Given the description of an element on the screen output the (x, y) to click on. 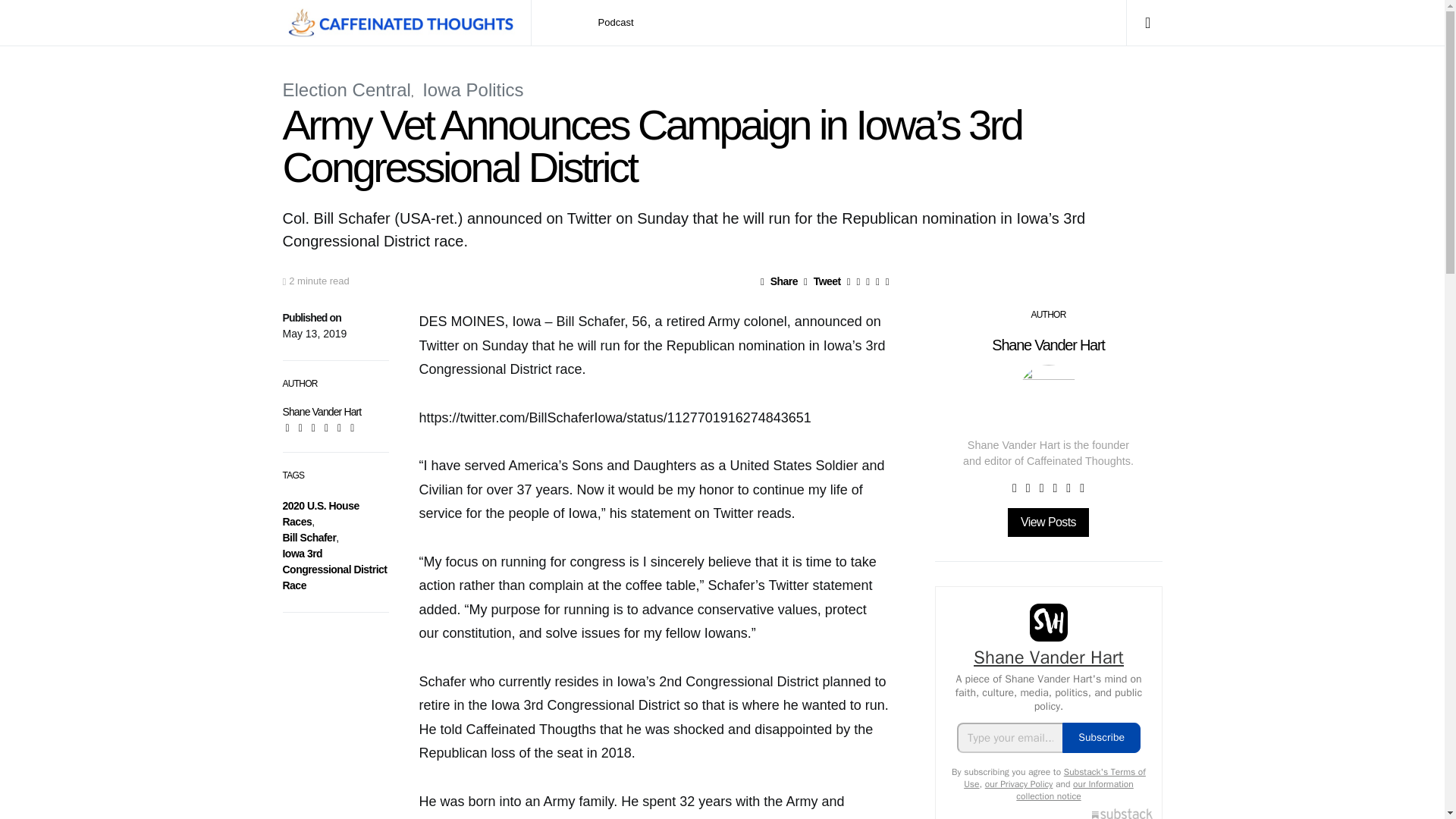
Share (778, 280)
2020 U.S. House Races (320, 513)
Iowa 3rd Congressional District Race (334, 569)
Iowa Politics (472, 89)
Podcast (616, 22)
Tweet (822, 280)
Bill Schafer (309, 537)
Shane Vander Hart (321, 411)
Election Central (346, 89)
